Given the description of an element on the screen output the (x, y) to click on. 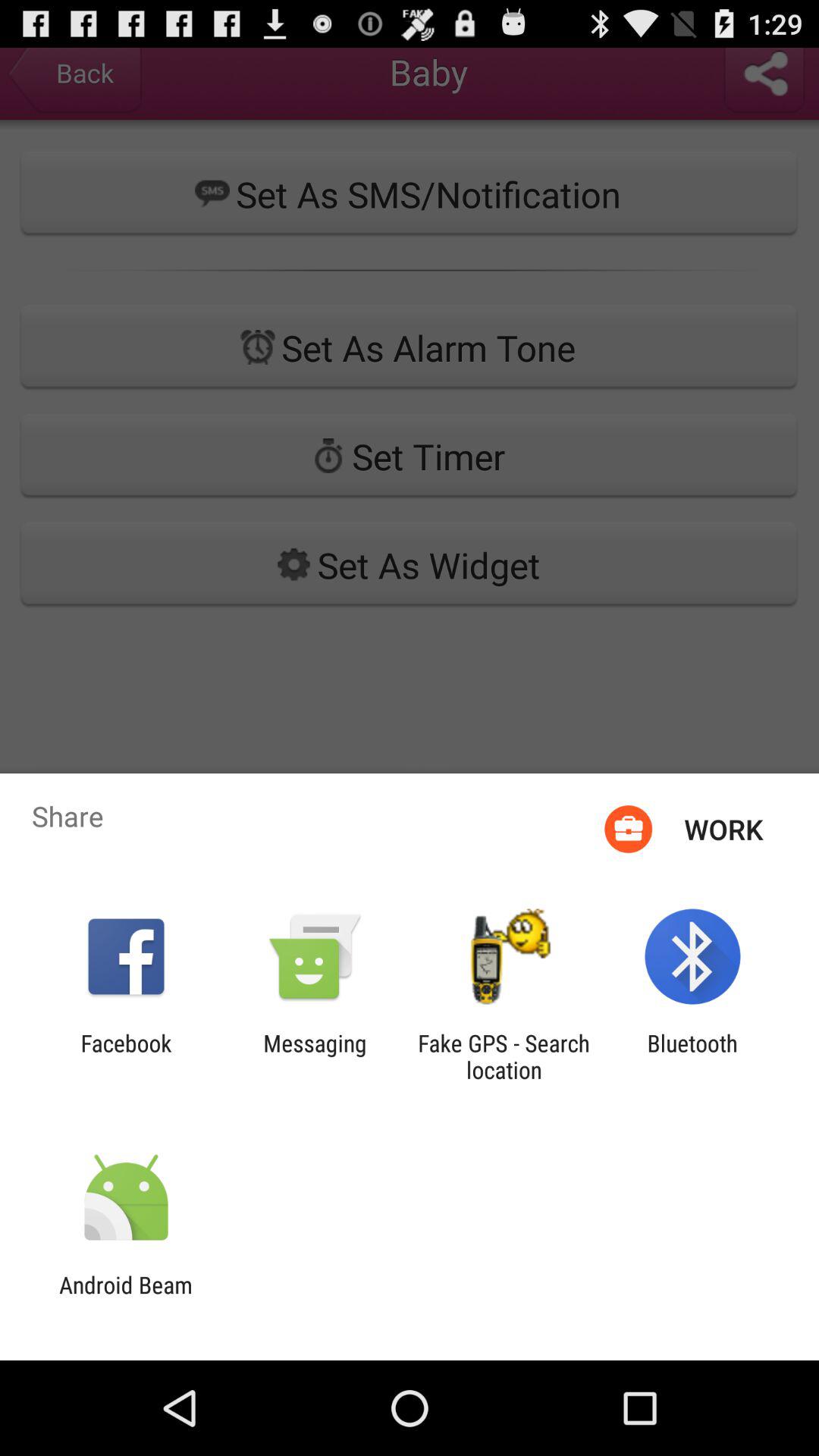
turn on the icon to the right of the facebook icon (314, 1056)
